Given the description of an element on the screen output the (x, y) to click on. 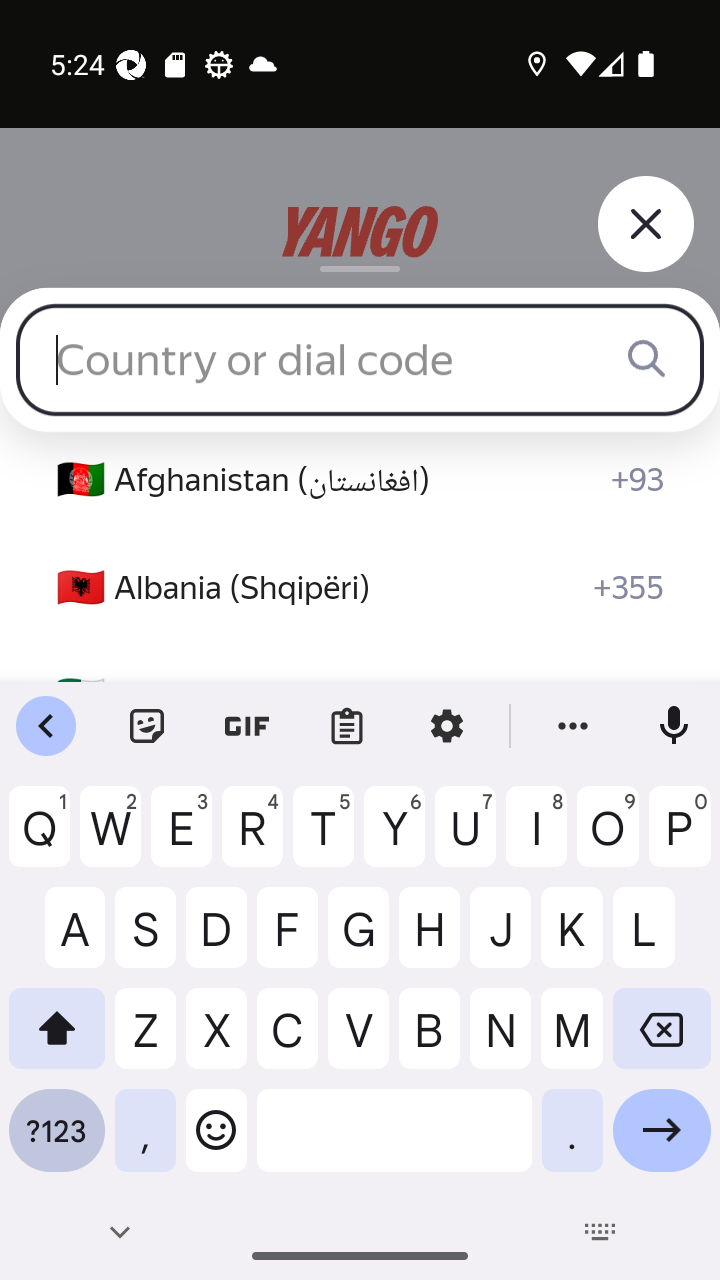
🇦🇫 Afghanistan (‫افغانستان‬‎) +93 (359, 479)
🇦🇱 Albania (Shqipëri) +355 (359, 588)
